Given the description of an element on the screen output the (x, y) to click on. 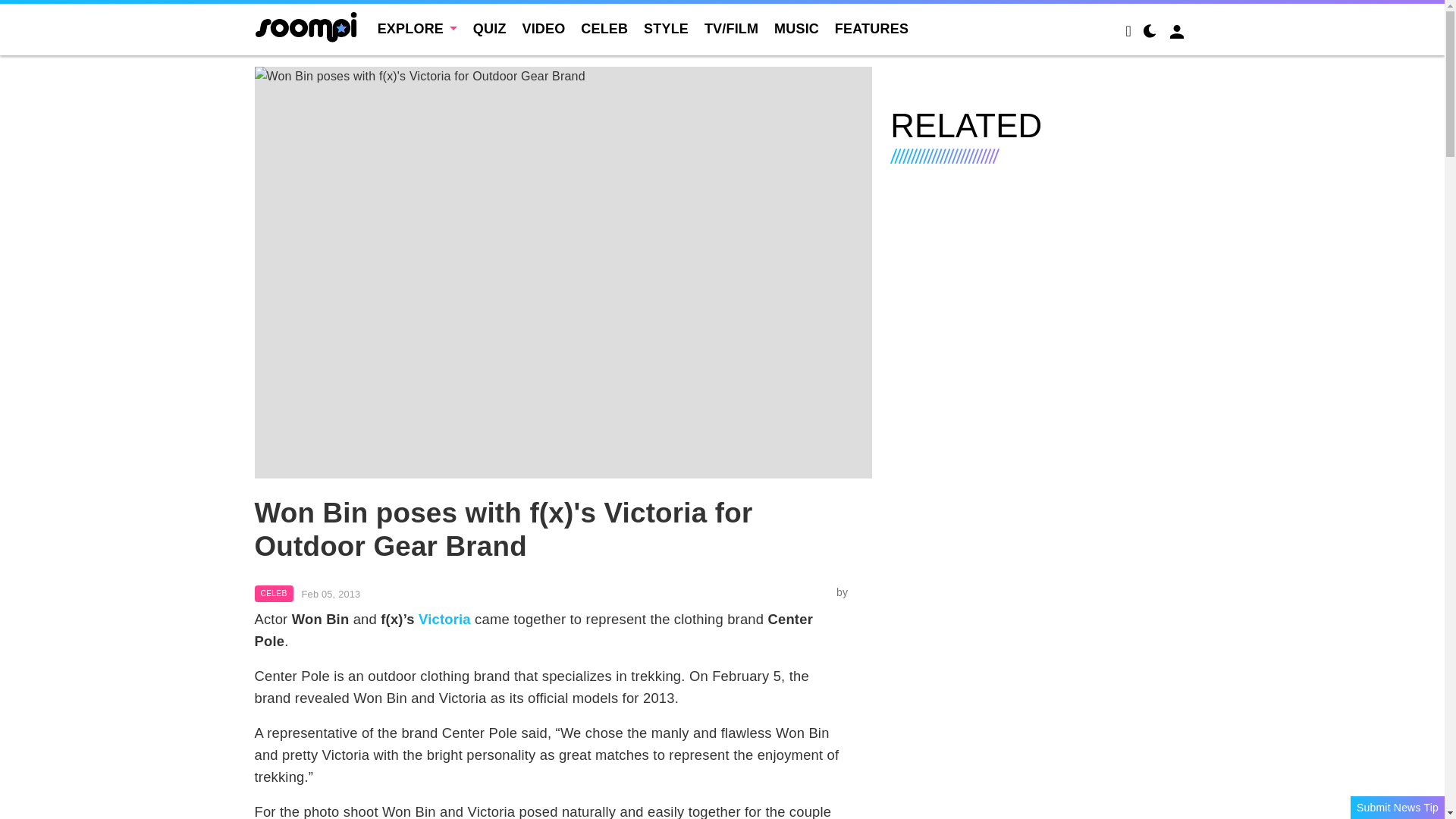
STYLE (665, 28)
CELEB (603, 28)
FEATURES (871, 28)
MUSIC (796, 28)
CELEB (274, 593)
Night Mode Toggle (1149, 33)
QUIZ (489, 28)
EXPLORE (417, 28)
Victoria (444, 618)
VIDEO (542, 28)
Celeb (274, 593)
